Given the description of an element on the screen output the (x, y) to click on. 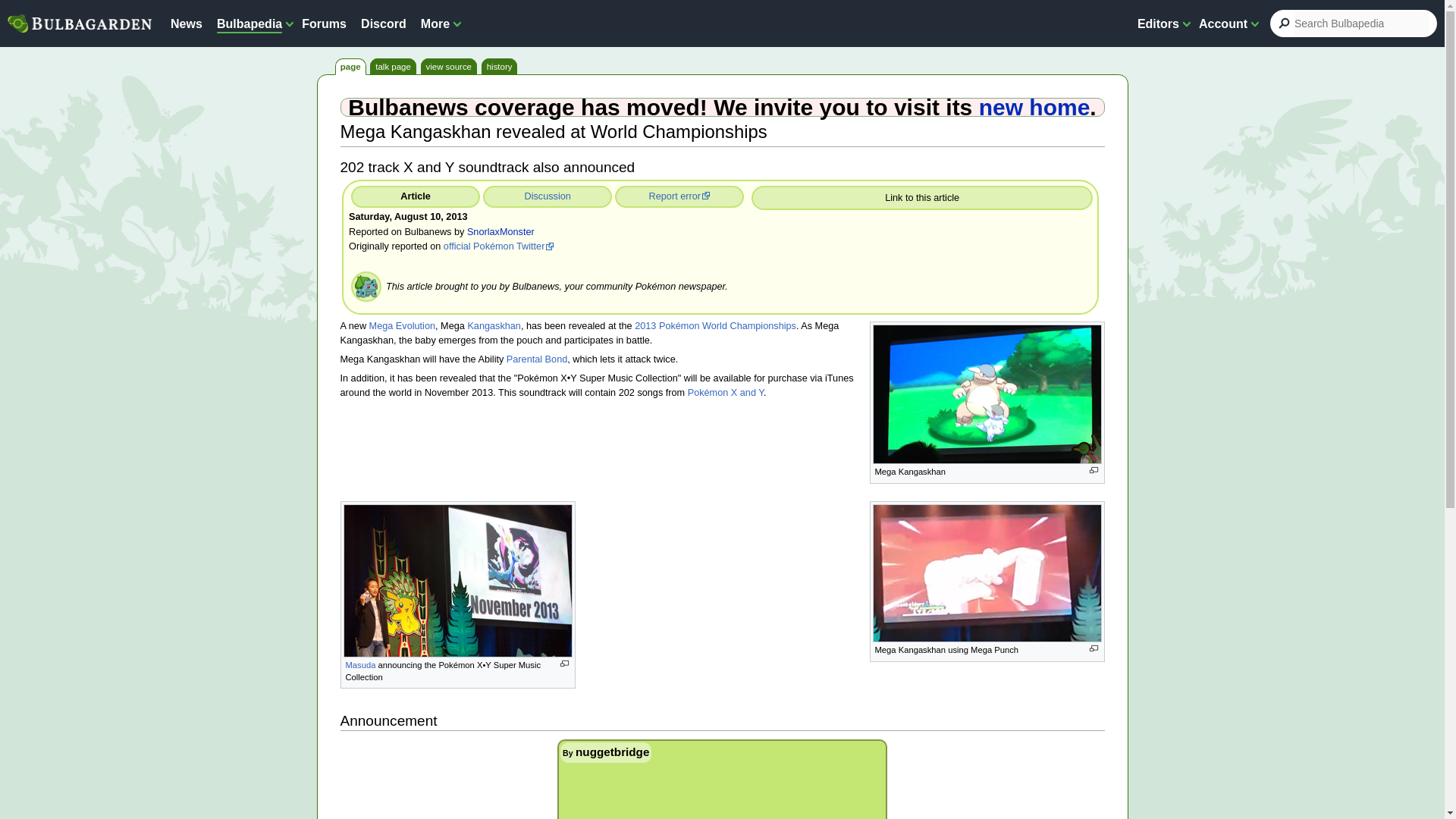
Enlarge (563, 664)
bmgf:154203 (547, 195)
bp:Mega Evolution (402, 326)
bp:Junichi Masuda (360, 664)
Enlarge (1093, 648)
Bulbapedia (249, 22)
bp:2013 World Championships (715, 326)
Enlarge (1093, 470)
User:SnorlaxMonster (500, 231)
